Given the description of an element on the screen output the (x, y) to click on. 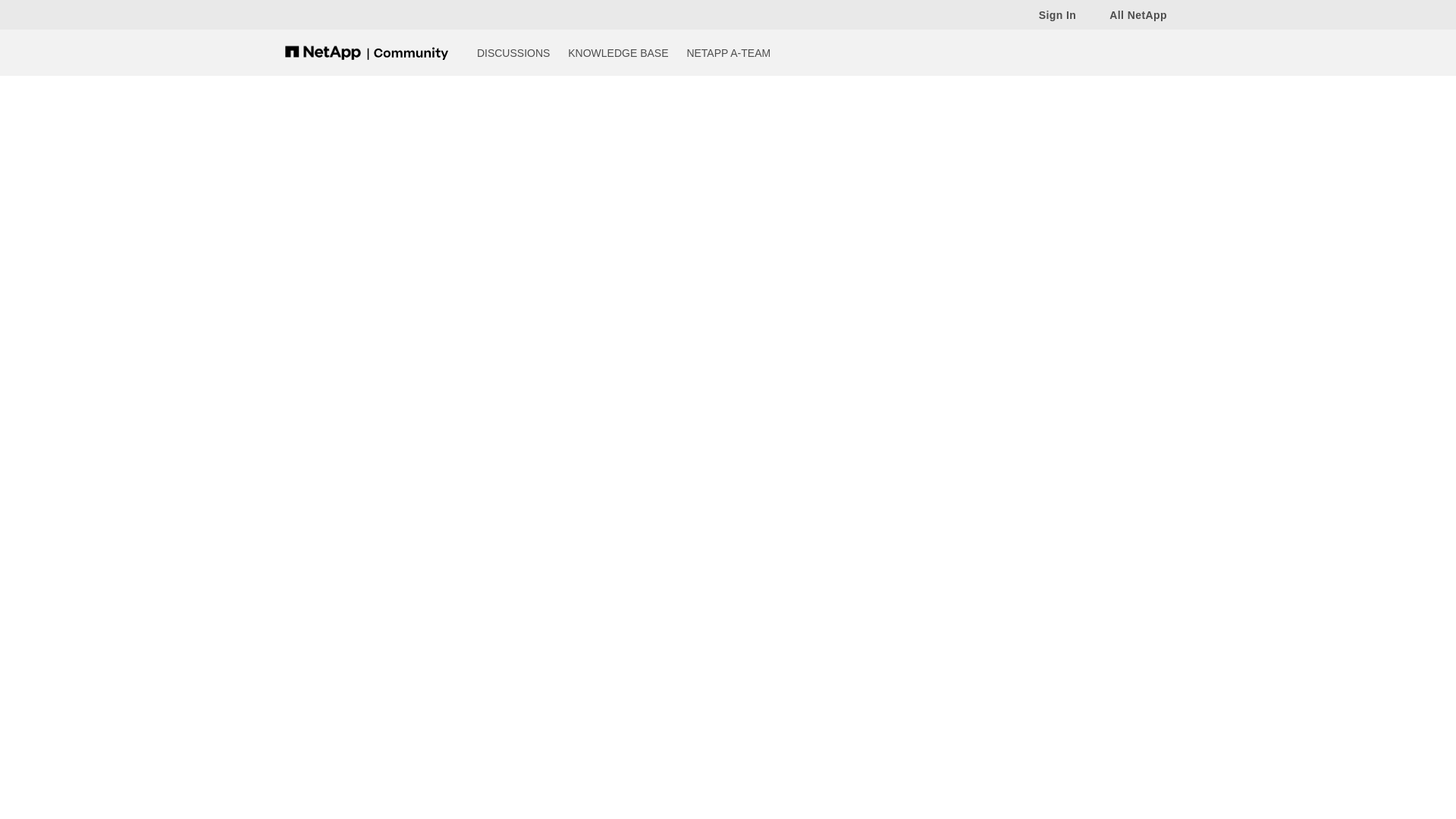
Sign In (1050, 14)
KNOWLEDGE BASE (617, 52)
All NetApp (1130, 14)
All NetApp (1130, 14)
NETAPP A-TEAM (727, 52)
DISCUSSIONS (513, 52)
